Given the description of an element on the screen output the (x, y) to click on. 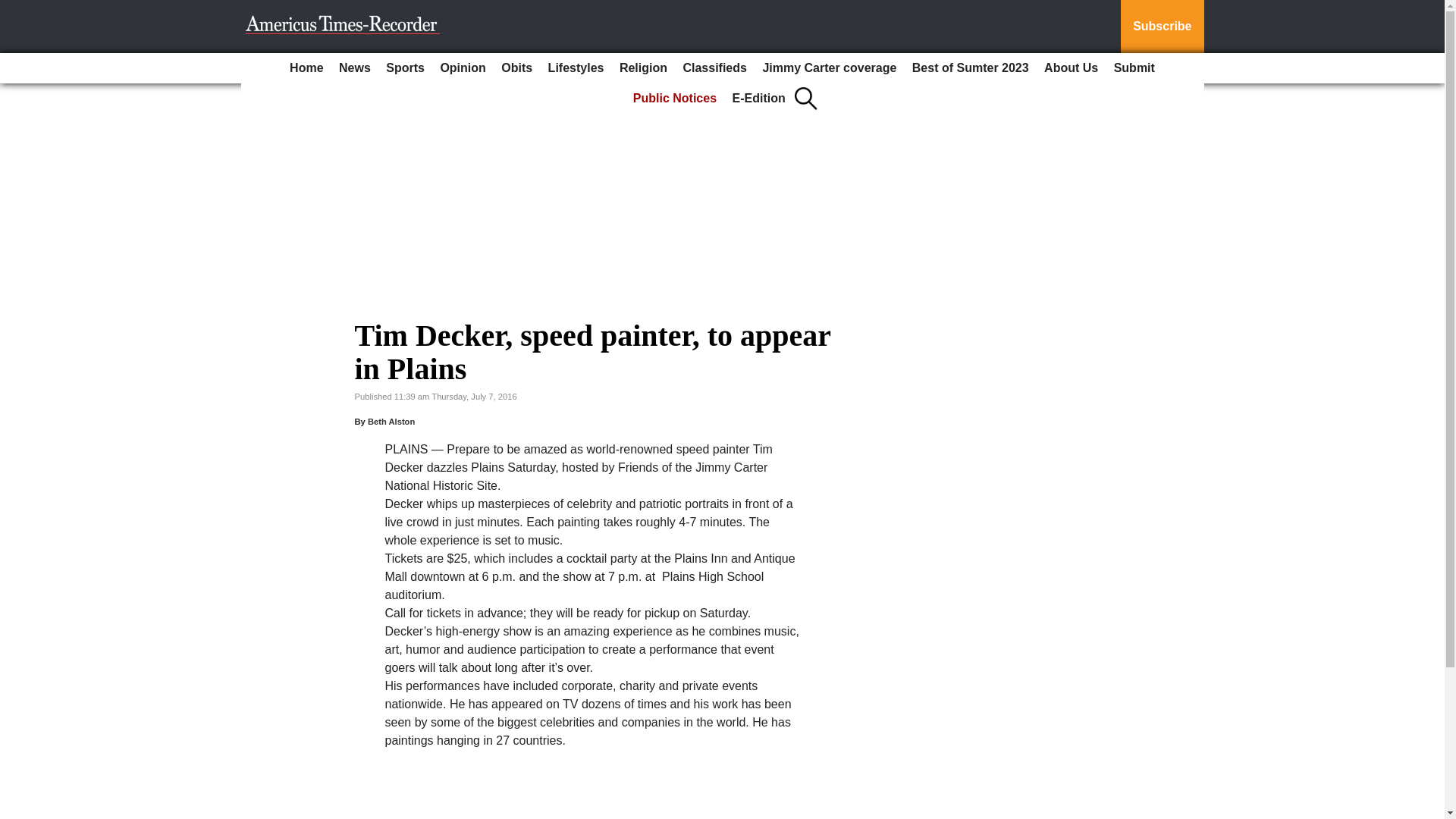
Obits (516, 68)
Go (13, 9)
Lifestyles (575, 68)
Home (306, 68)
Classifieds (714, 68)
E-Edition (759, 98)
Beth Alston (391, 420)
Sports (405, 68)
Opinion (462, 68)
Public Notices (674, 98)
